Given the description of an element on the screen output the (x, y) to click on. 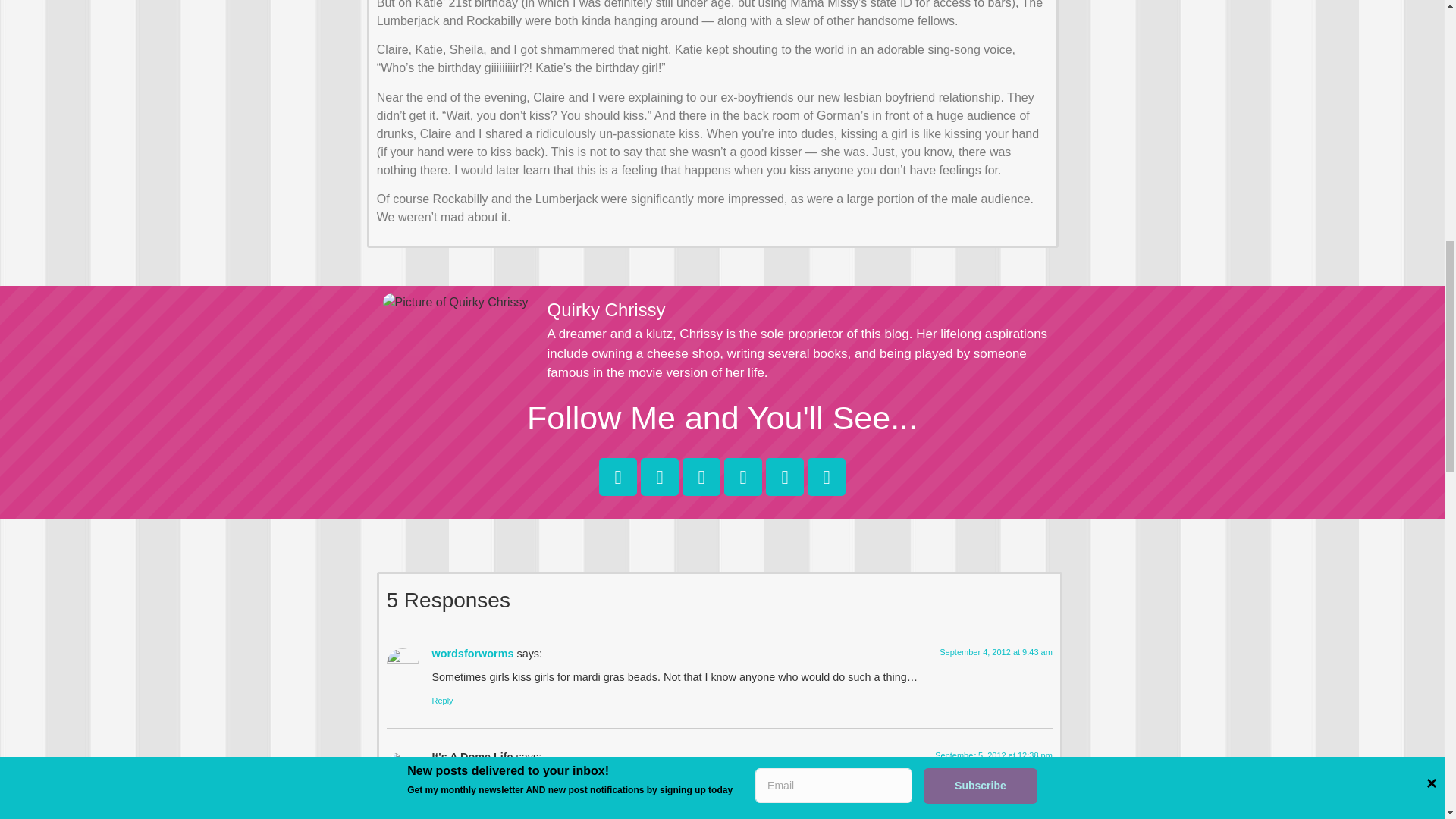
wordsforworms (472, 653)
September 4, 2012 at 9:43 am (995, 651)
